Given the description of an element on the screen output the (x, y) to click on. 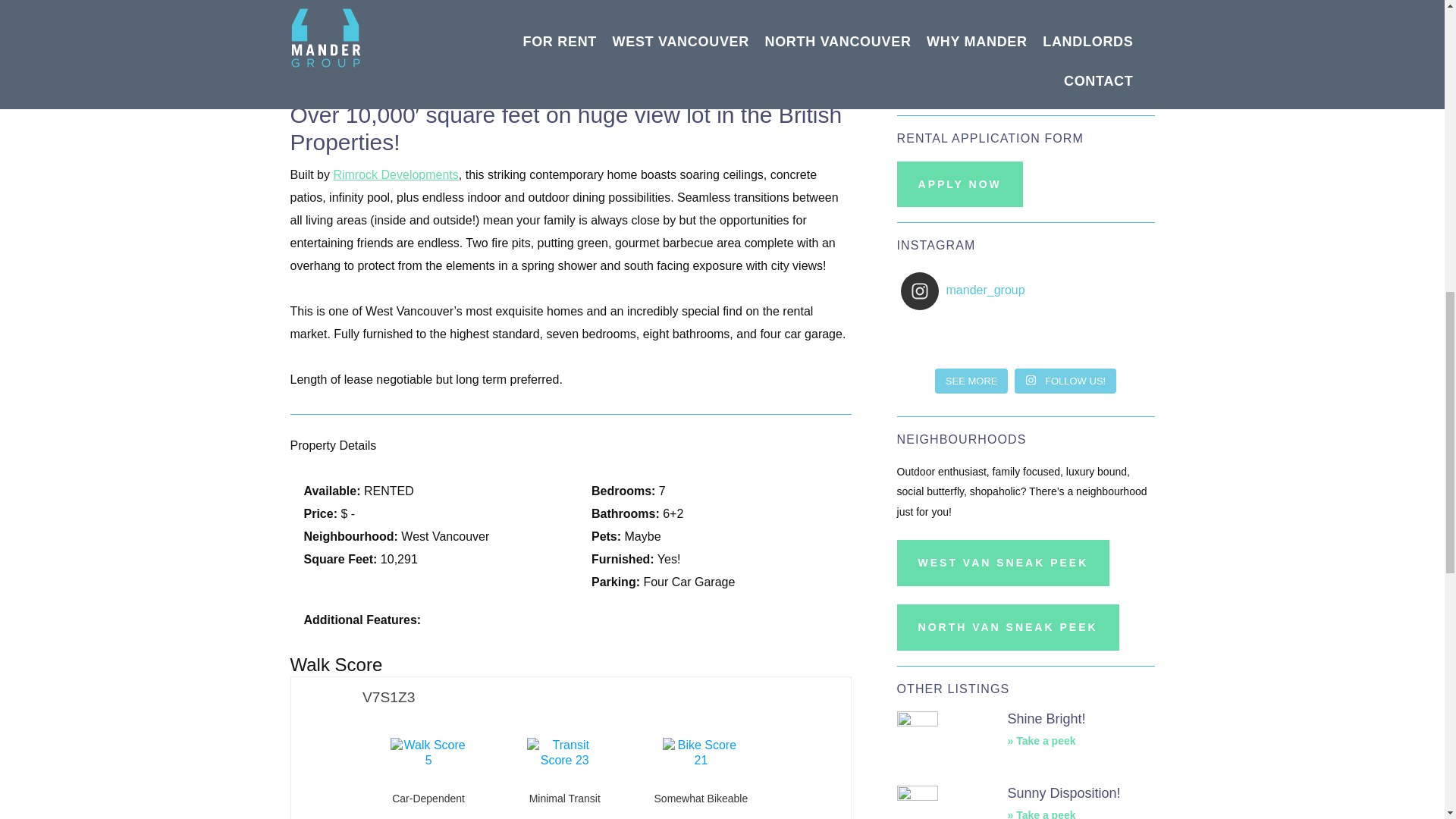
Rimrock Developments (395, 174)
